Given the description of an element on the screen output the (x, y) to click on. 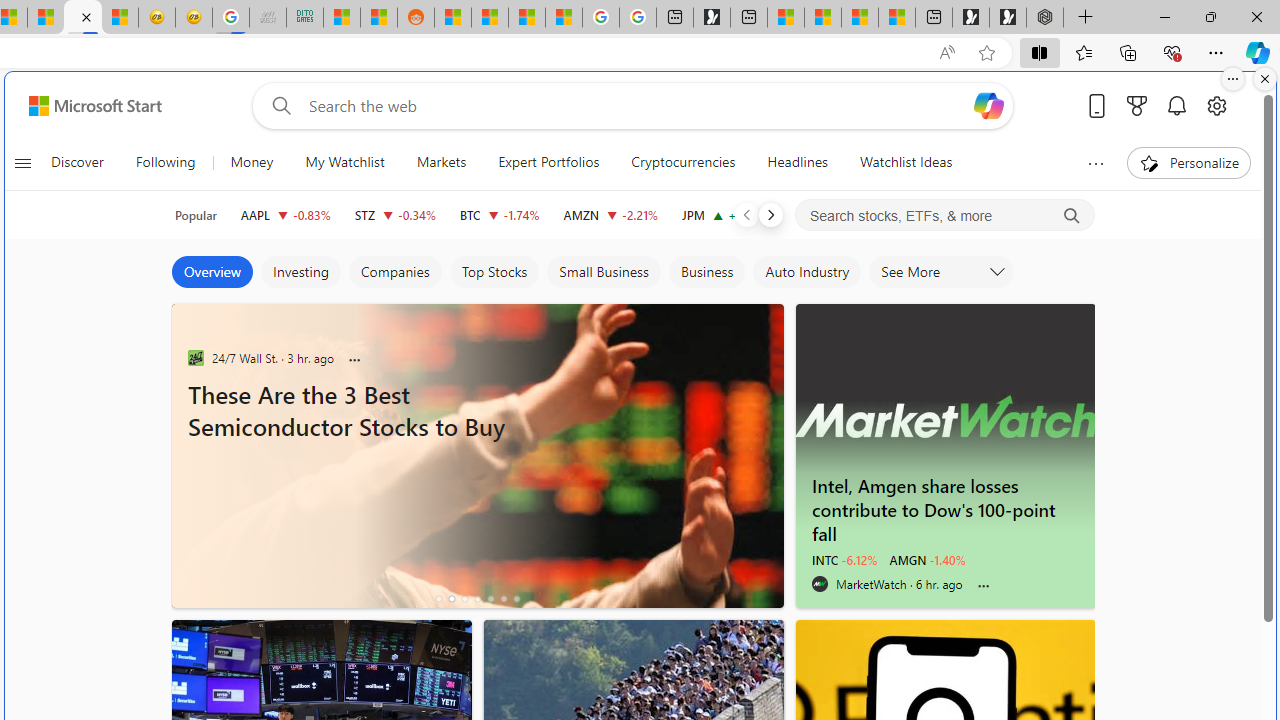
Investing (299, 272)
AMGN -1.40% (927, 560)
Personalize (1188, 162)
Watchlist Ideas (905, 162)
Skip to content (87, 105)
JPM JPMORGAN CHASE & CO. increase 216.71 +2.11 +0.98% (725, 214)
Cryptocurrencies (683, 162)
MarketWatch (819, 583)
Small Business (603, 272)
